Given the description of an element on the screen output the (x, y) to click on. 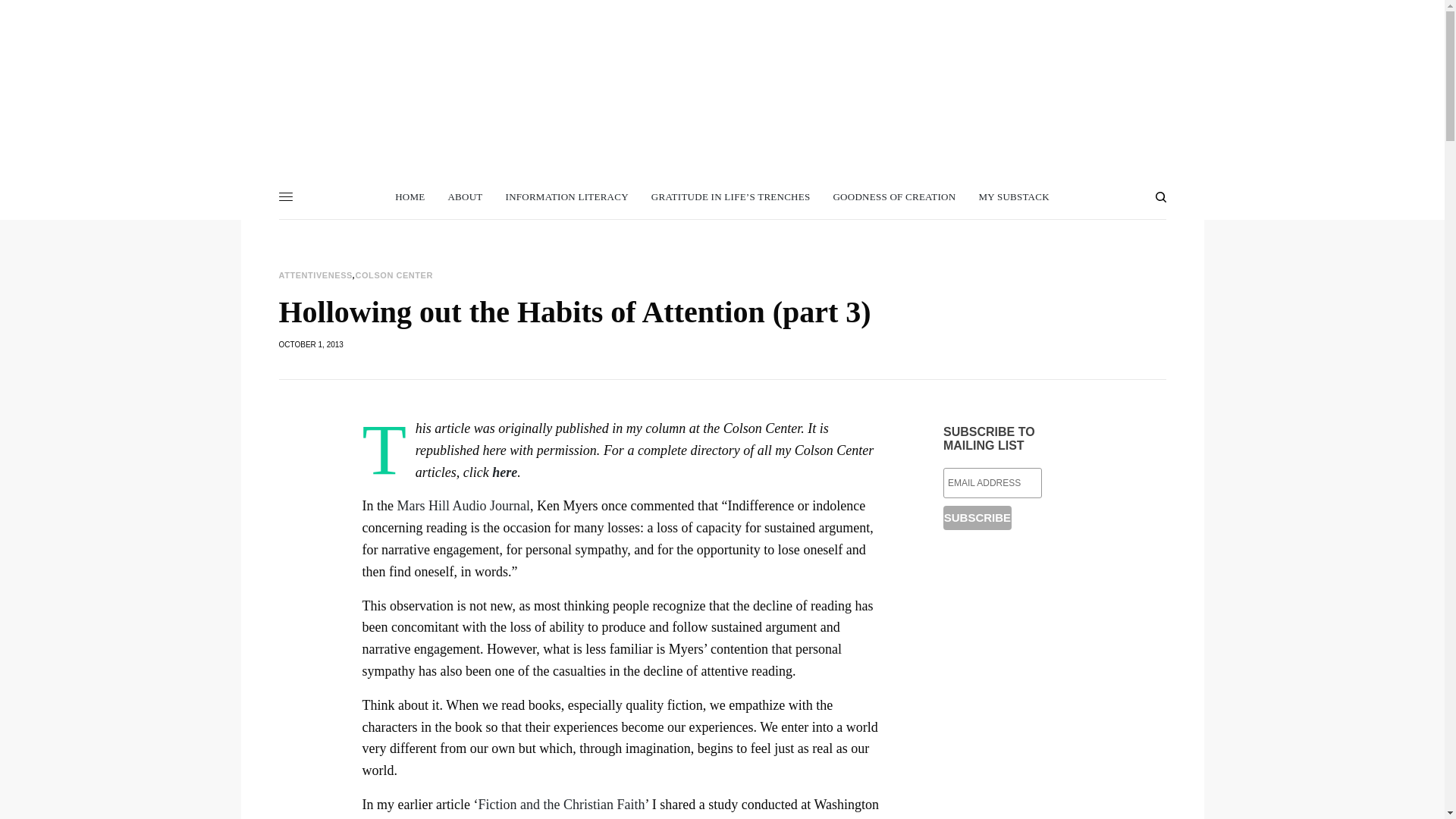
Mars Hill Audio Journal (464, 505)
INFORMATION LITERACY (566, 197)
COLSON CENTER (394, 275)
Fiction and the Christian Faith (561, 804)
Robin Mark Phillips (721, 71)
ATTENTIVENESS (315, 275)
Subscribe (977, 517)
GOODNESS OF CREATION (893, 197)
Subscribe (977, 517)
here (504, 472)
MY SUBSTACK (1013, 197)
